Given the description of an element on the screen output the (x, y) to click on. 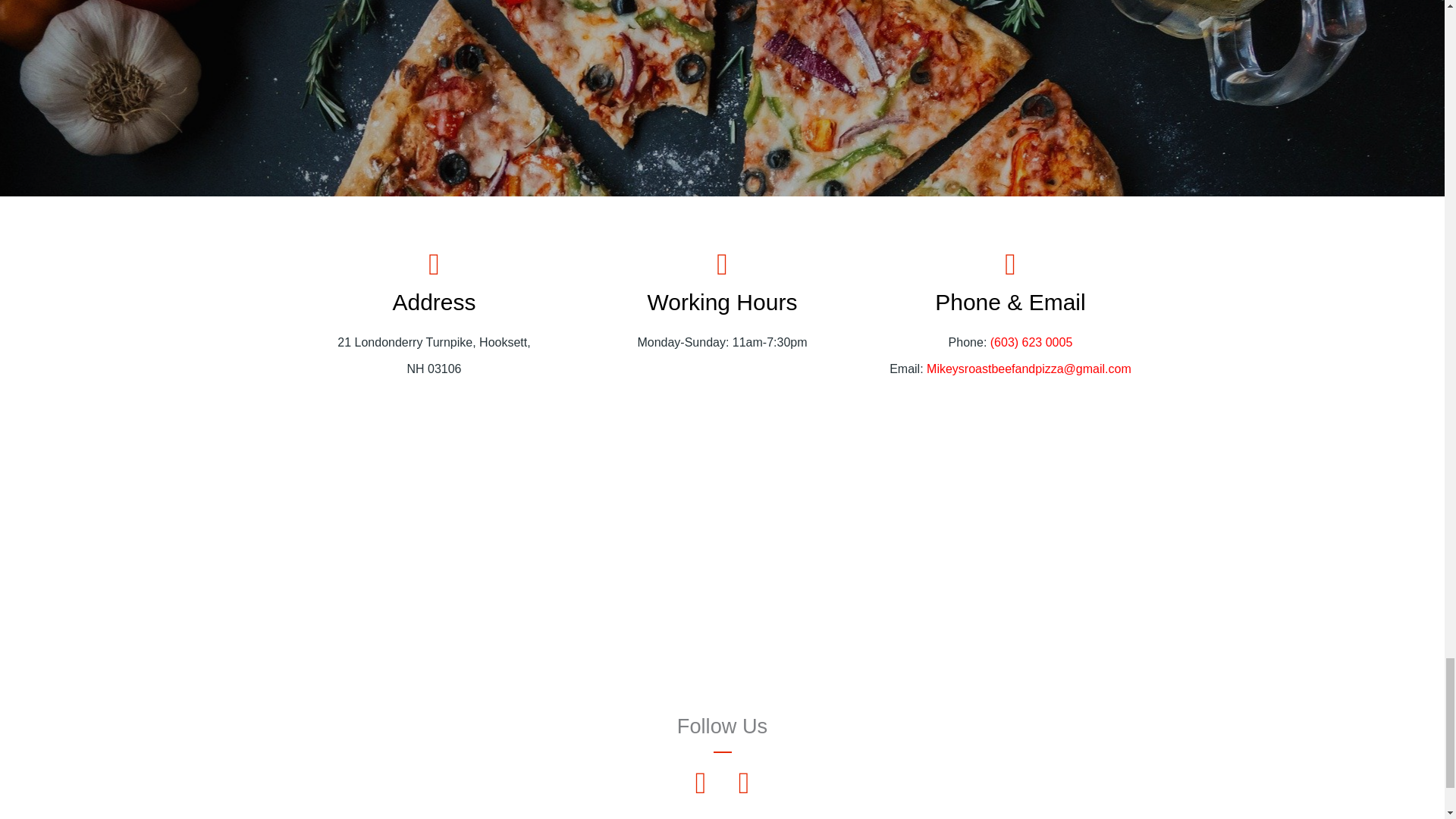
Subscribe! (722, 56)
